Given the description of an element on the screen output the (x, y) to click on. 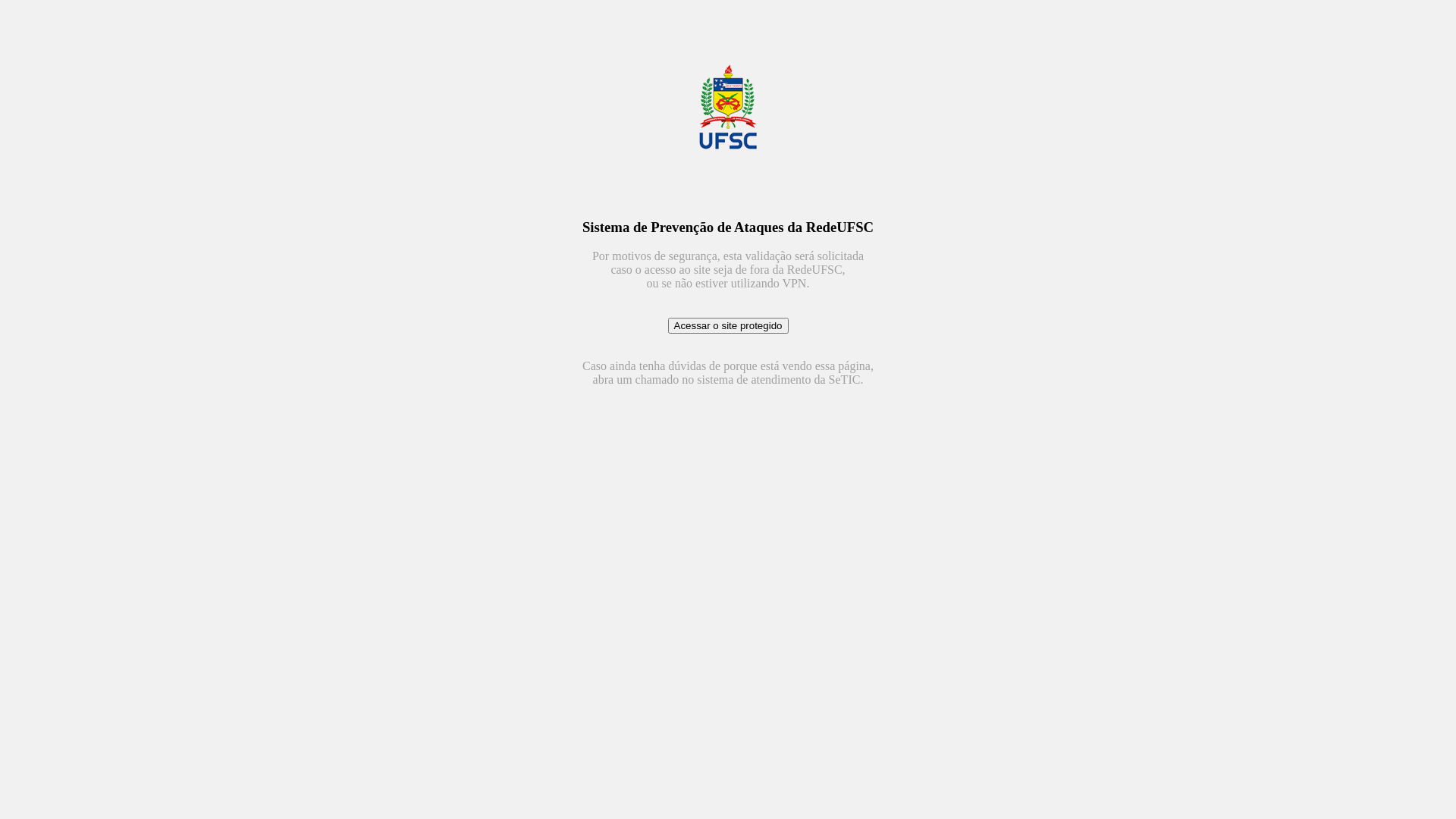
Acessar o site protegido Element type: text (727, 325)
